Given the description of an element on the screen output the (x, y) to click on. 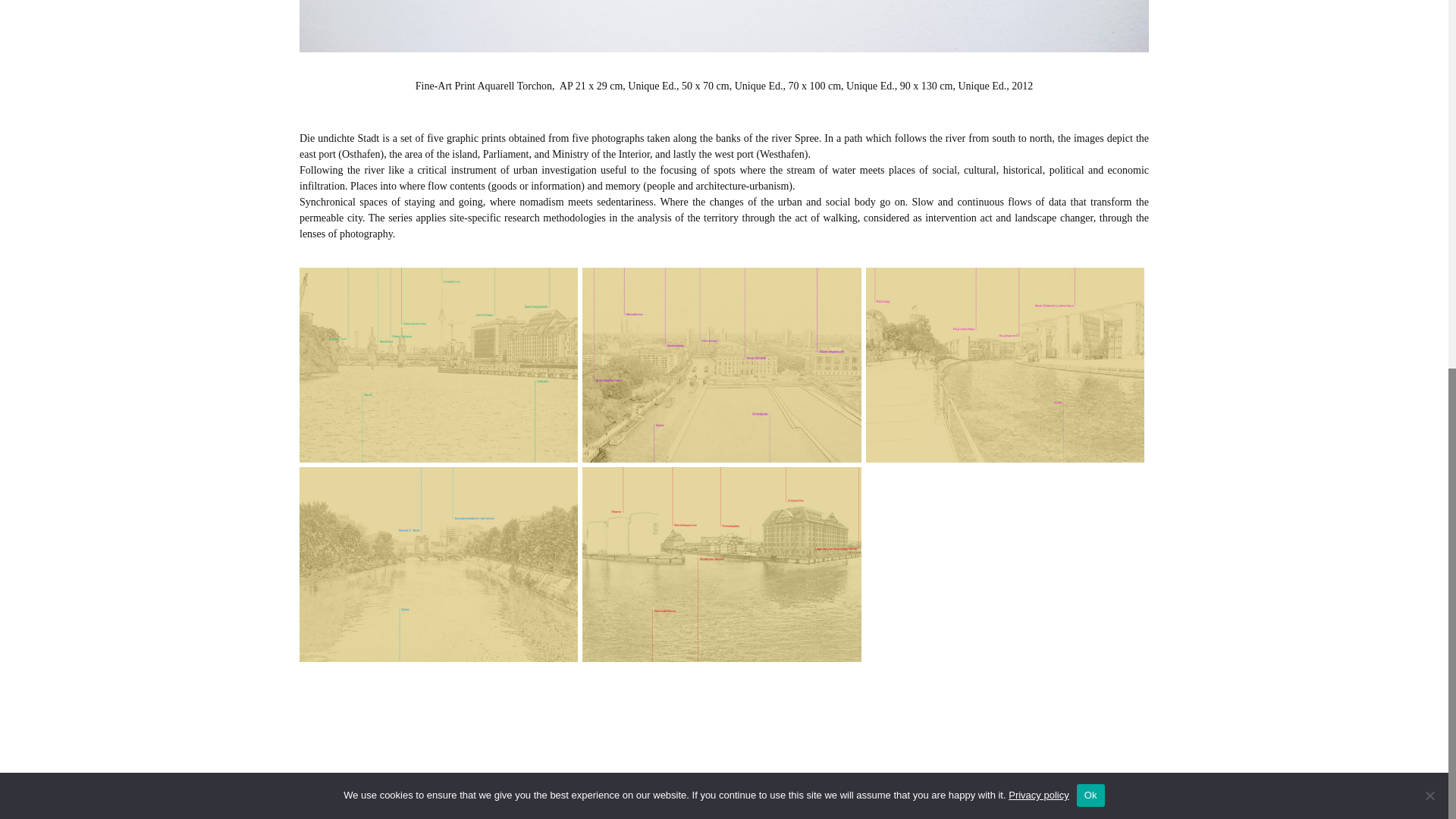
Privacy policy (1038, 124)
Ok (1091, 124)
